Given the description of an element on the screen output the (x, y) to click on. 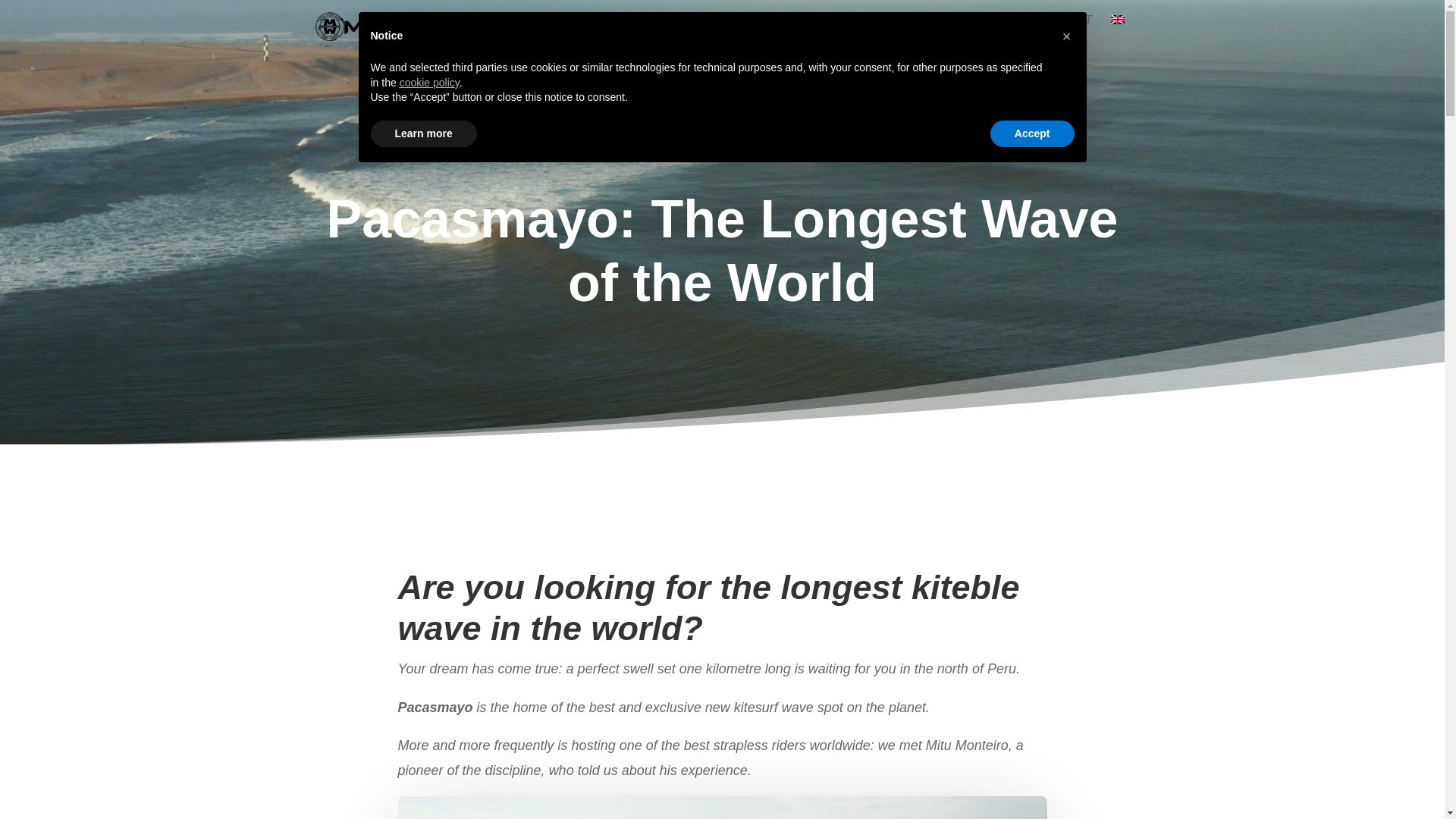
HOME (470, 34)
CONTACT (1061, 34)
SPONSORS (723, 34)
NEWS (993, 34)
VIDEOS (802, 34)
BIO (518, 34)
